Given the description of an element on the screen output the (x, y) to click on. 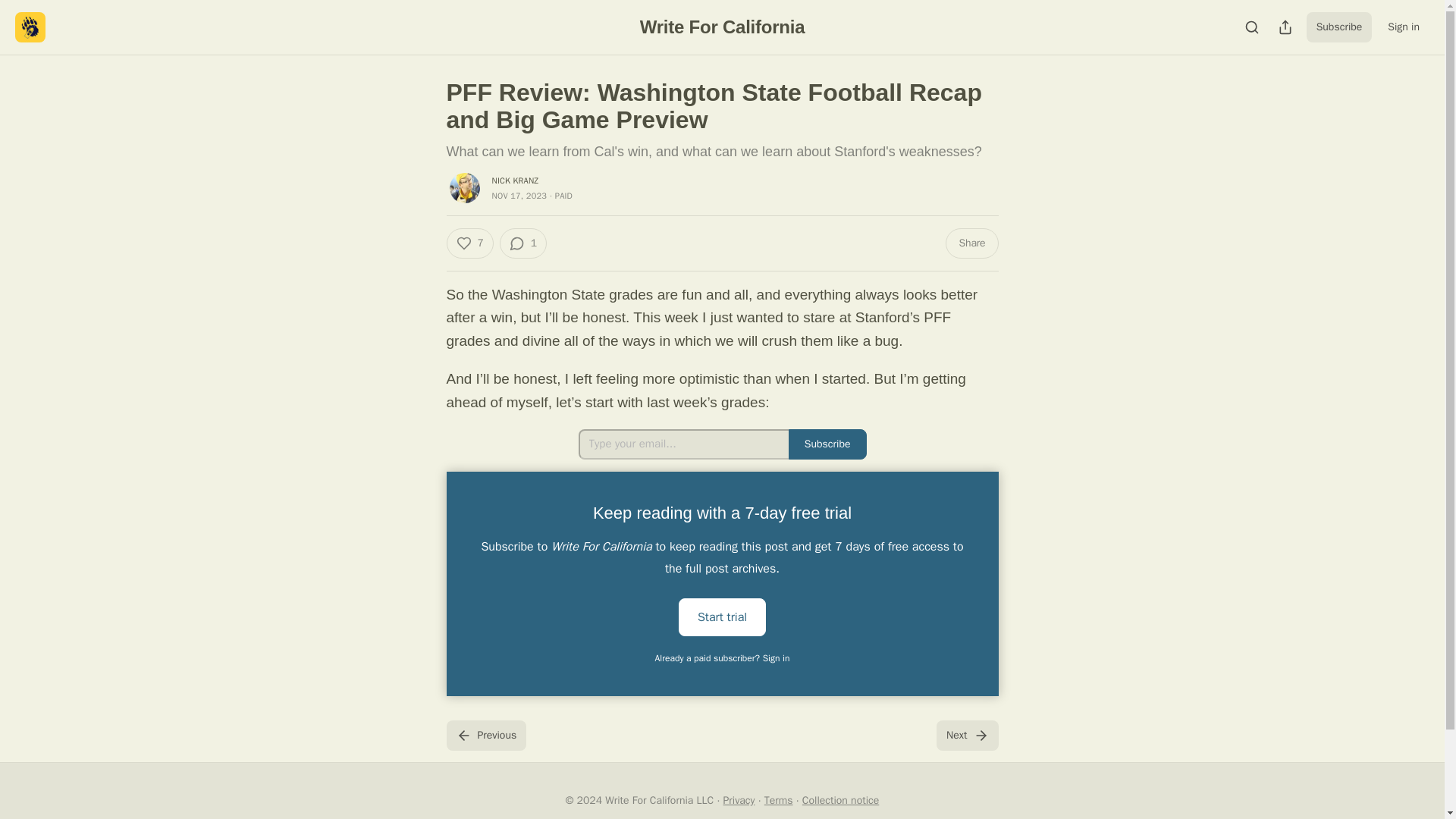
Write For California (722, 26)
1 (523, 243)
Start trial (721, 616)
Privacy (739, 799)
Share (970, 243)
Previous (485, 735)
Subscribe (1339, 27)
Subscribe (827, 444)
7 (469, 243)
Terms (778, 799)
